Given the description of an element on the screen output the (x, y) to click on. 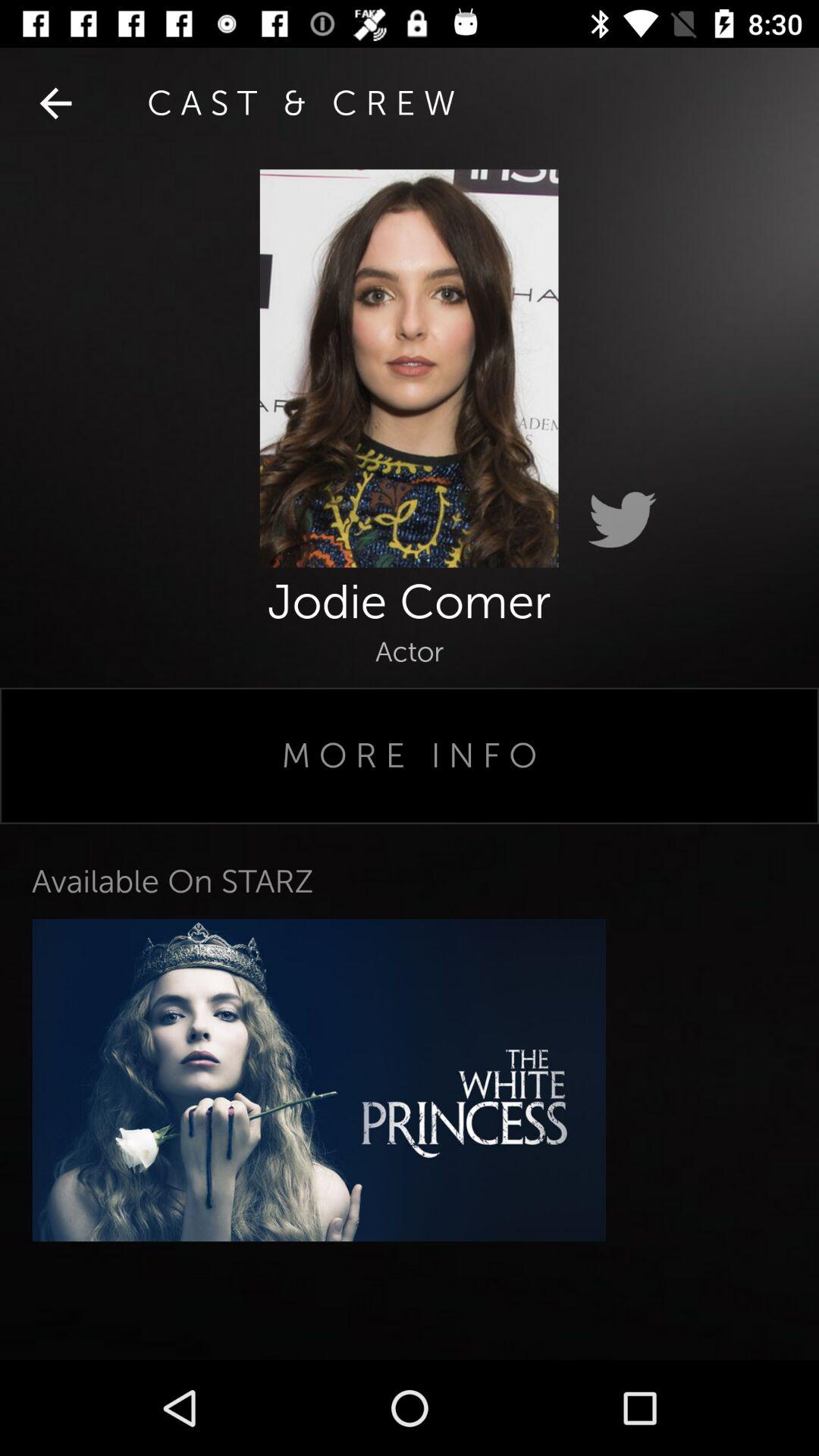
select icon above the jodie comer (622, 520)
